Given the description of an element on the screen output the (x, y) to click on. 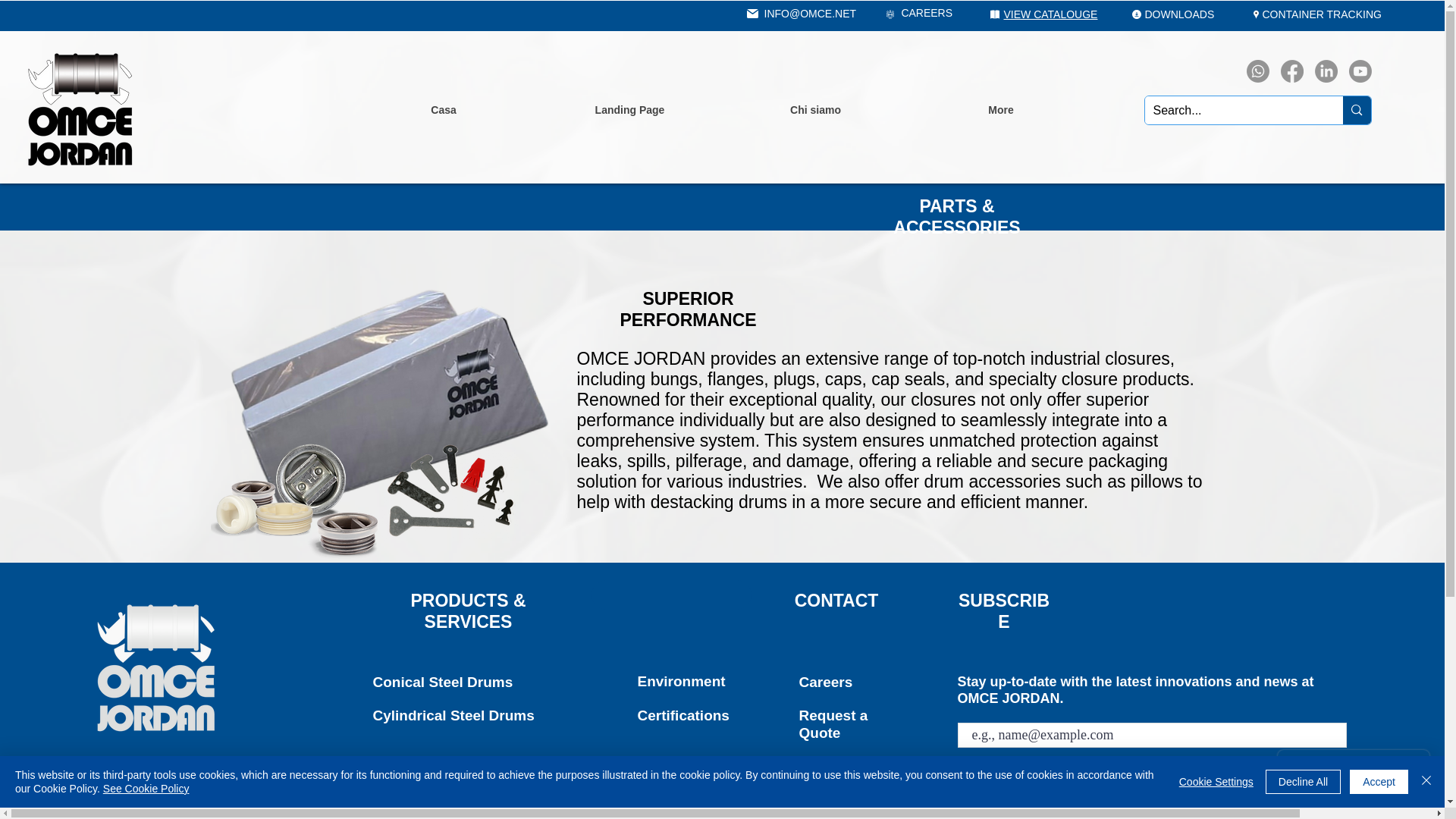
Request a Quote (833, 724)
Chi siamo (814, 109)
Wix Chat (1356, 774)
CONTAINER TRACKING (1321, 14)
Casa (442, 109)
Cylindrical Steel Drums (453, 715)
Landing Page (629, 109)
DOWNLOADS (1179, 14)
VIEW CATALOUGE (1050, 14)
Conical Steel Drums (442, 682)
 CAREERS (925, 12)
Careers (826, 682)
Environment (681, 681)
Drum Accessories (435, 765)
